Given the description of an element on the screen output the (x, y) to click on. 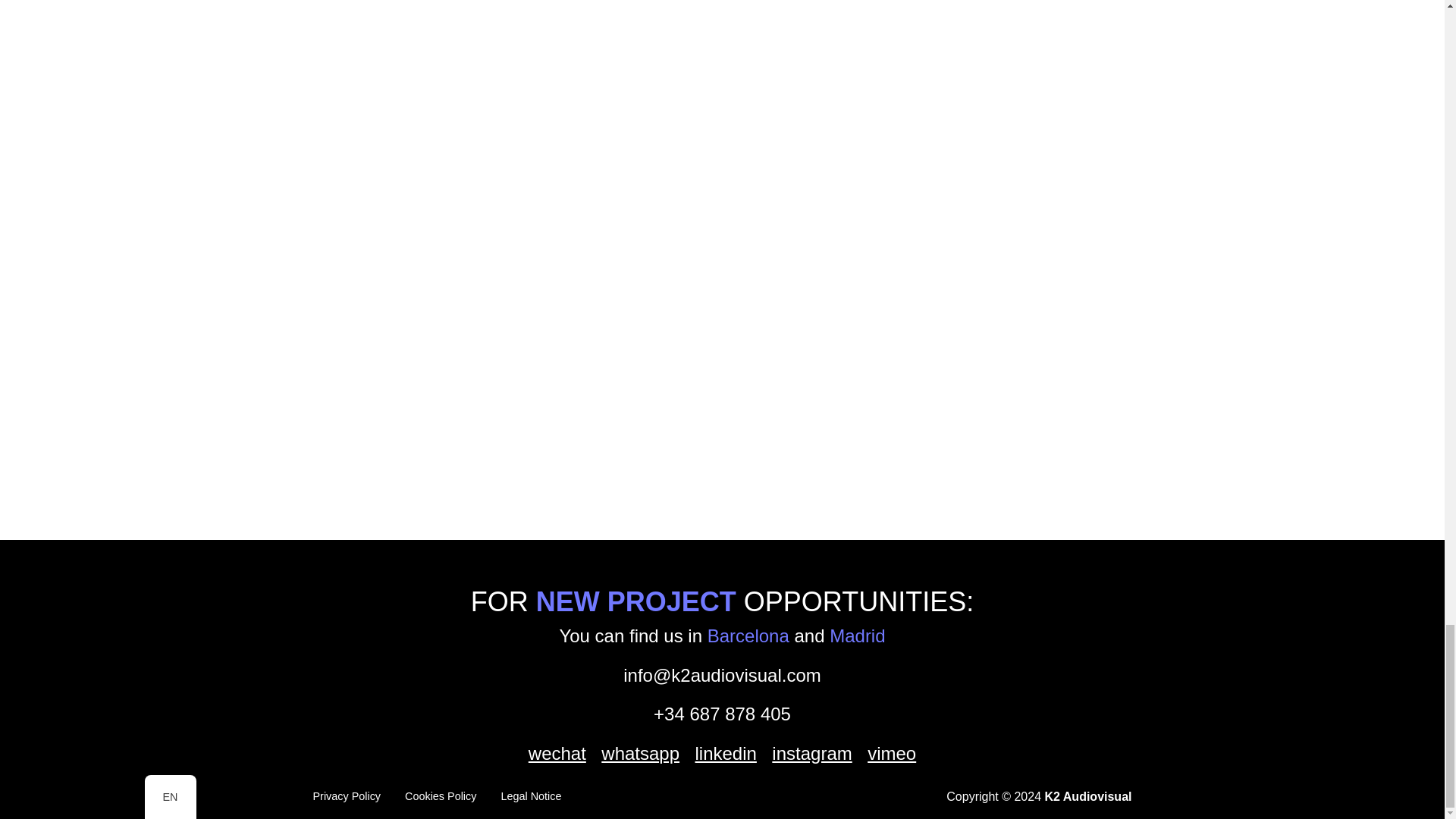
Visit Cookies Policy (440, 796)
Legal Notice (530, 796)
vimeo (891, 753)
wechat (557, 753)
Barcelona (748, 635)
Cookies Policy (440, 796)
Visit Privacy Policy (346, 796)
Visit Legal Notice (530, 796)
whatsapp (640, 753)
Madrid (857, 635)
instagram (811, 753)
linkedin (724, 753)
Privacy Policy (346, 796)
